Given the description of an element on the screen output the (x, y) to click on. 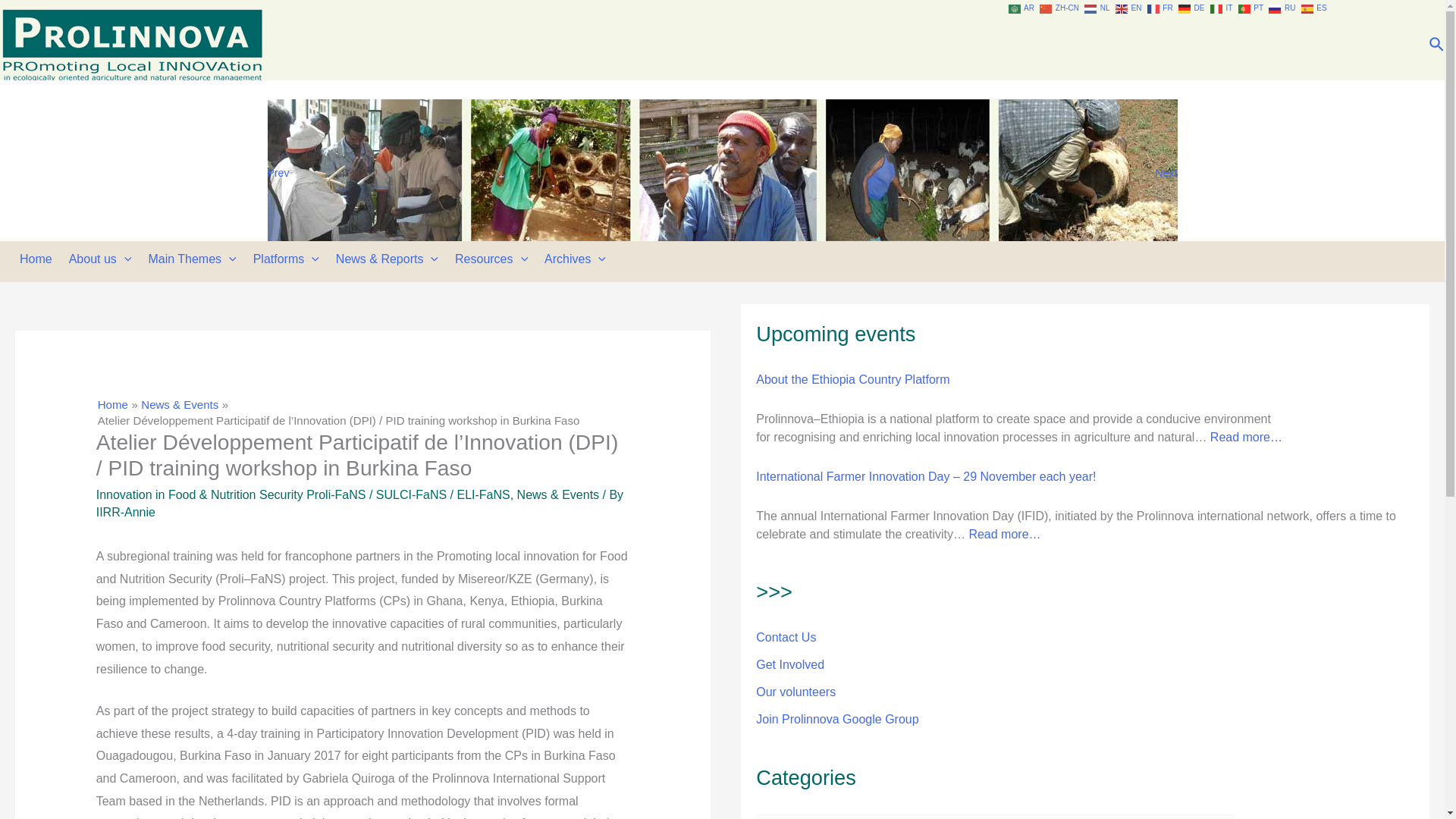
French (1160, 7)
English (1128, 7)
German (1192, 7)
Spanish (1315, 7)
Portuguese (1252, 7)
Main Themes (194, 258)
Prev (277, 172)
Next (1165, 172)
Home (39, 258)
Russian (1282, 7)
Dutch (1098, 7)
Arabic (1022, 7)
About us (104, 258)
Italian (1221, 7)
View all posts by IIRR-Annie (125, 512)
